Given the description of an element on the screen output the (x, y) to click on. 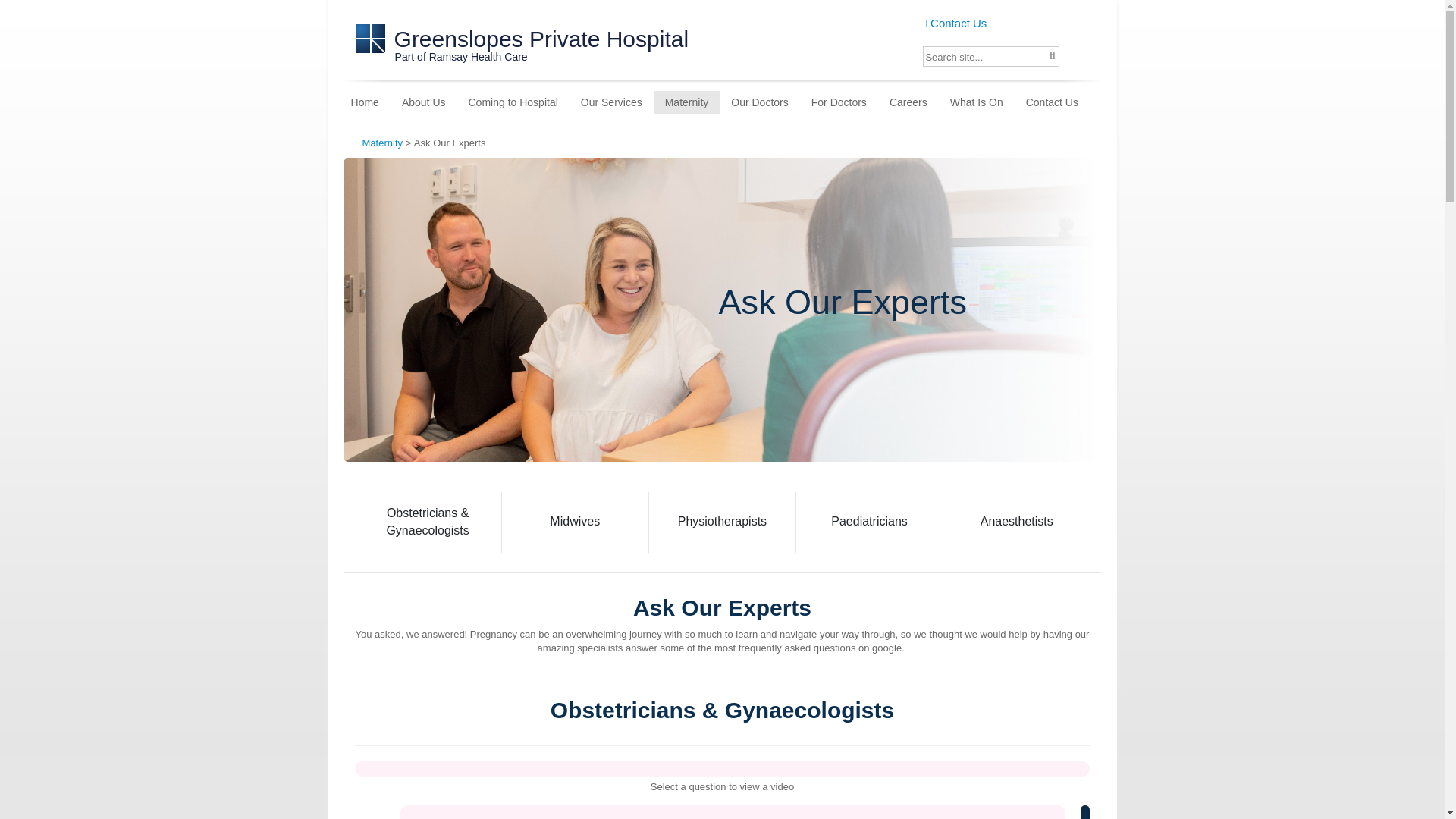
Contact Us (955, 22)
Coming to Hospital (513, 101)
About Us (423, 101)
Home (366, 101)
Our Services (611, 101)
